Given the description of an element on the screen output the (x, y) to click on. 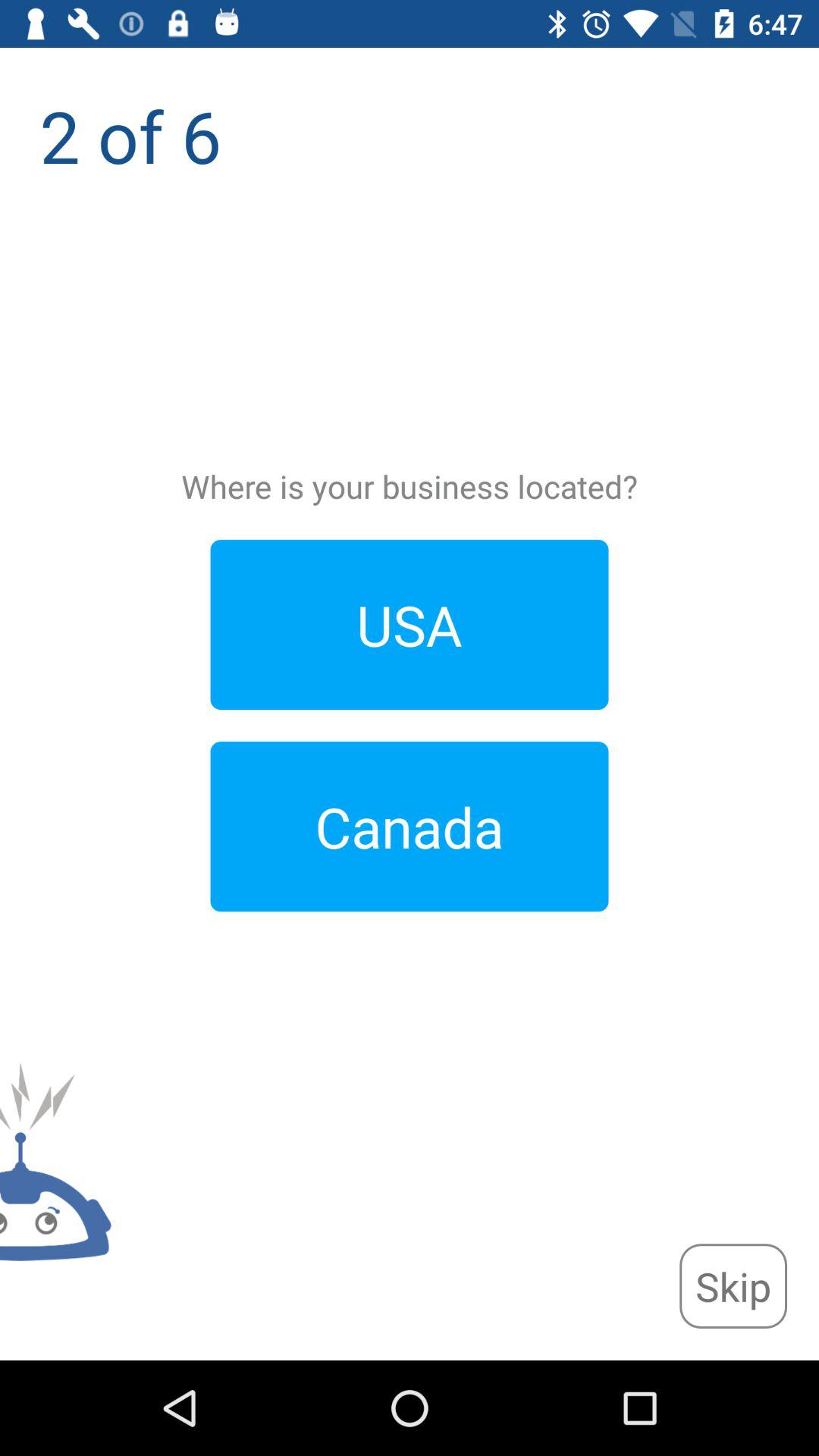
swipe to canada item (409, 826)
